Given the description of an element on the screen output the (x, y) to click on. 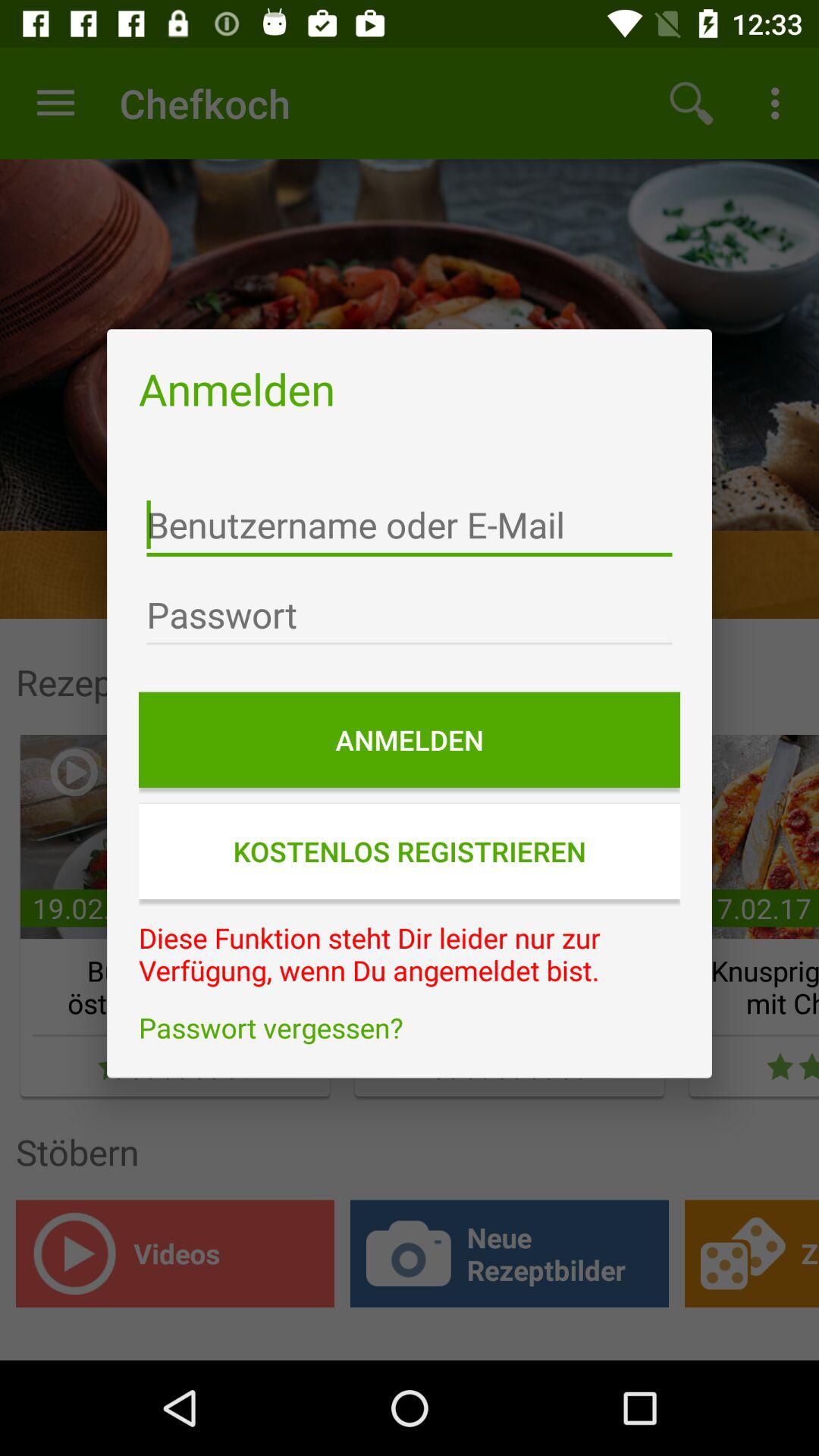
type password (409, 615)
